Given the description of an element on the screen output the (x, y) to click on. 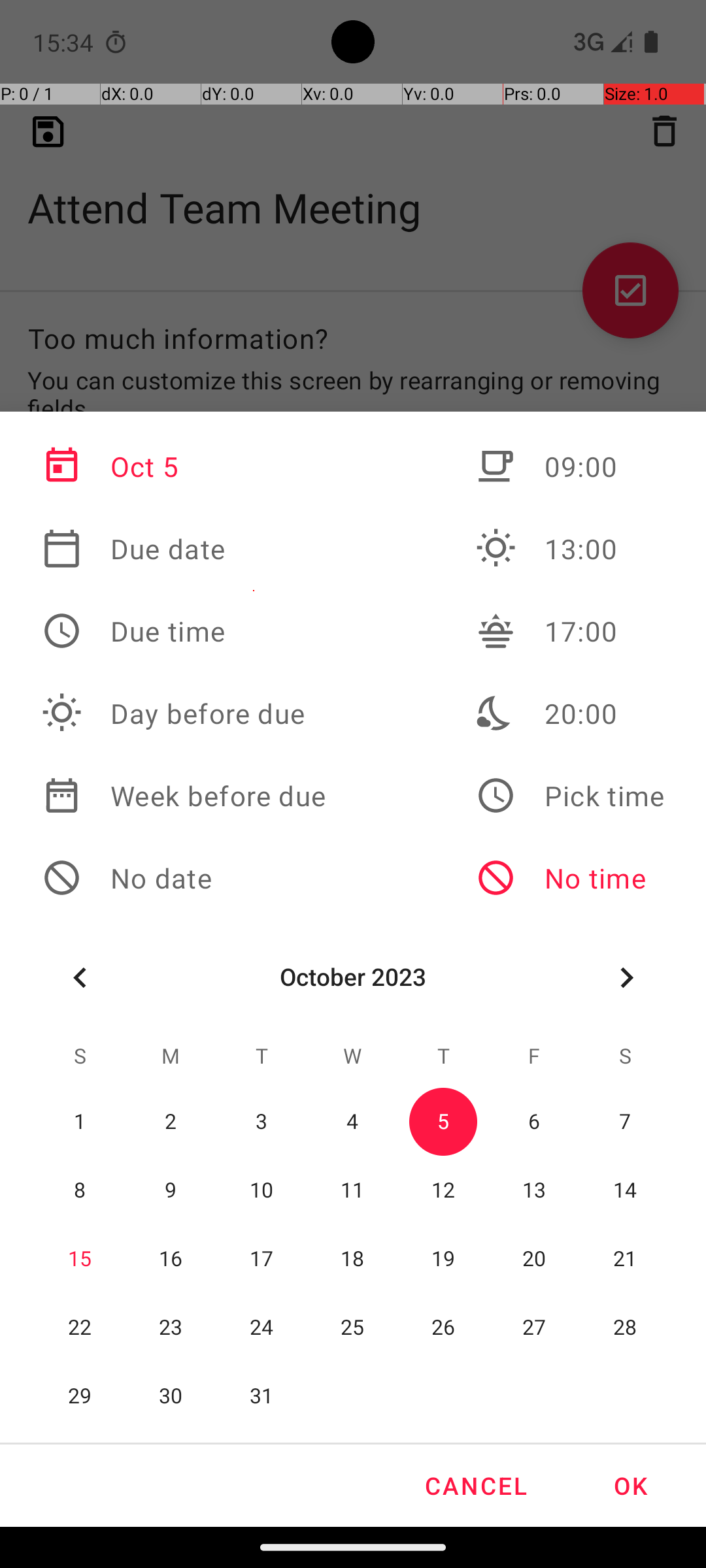
Oct 5 Element type: android.widget.CompoundButton (183, 466)
